Given the description of an element on the screen output the (x, y) to click on. 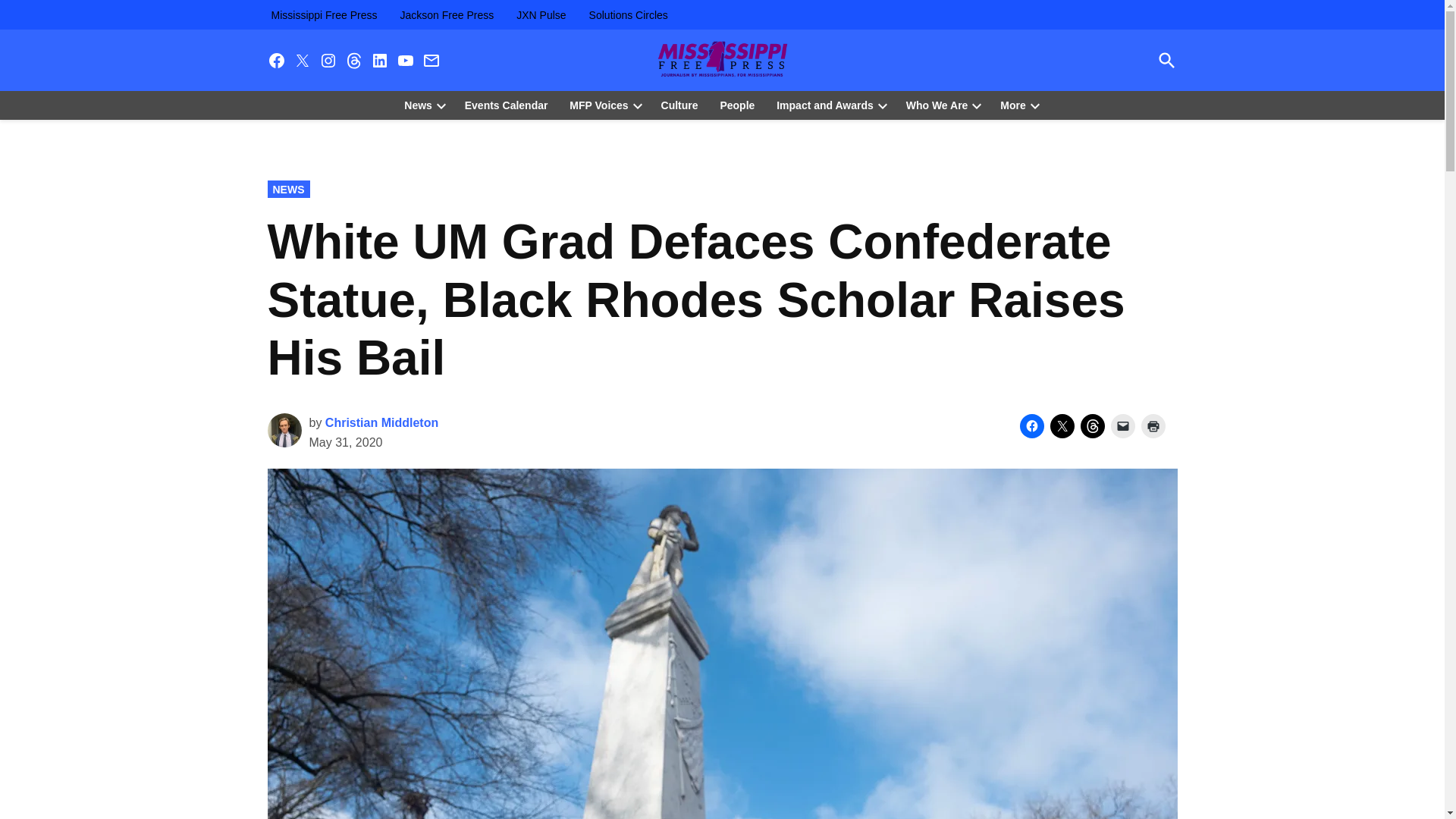
Click to share on Facebook (1031, 426)
Click to share on X (1061, 426)
Click to email a link to a friend (1121, 426)
Click to share on Threads (1091, 426)
Click to print (1152, 426)
